Given the description of an element on the screen output the (x, y) to click on. 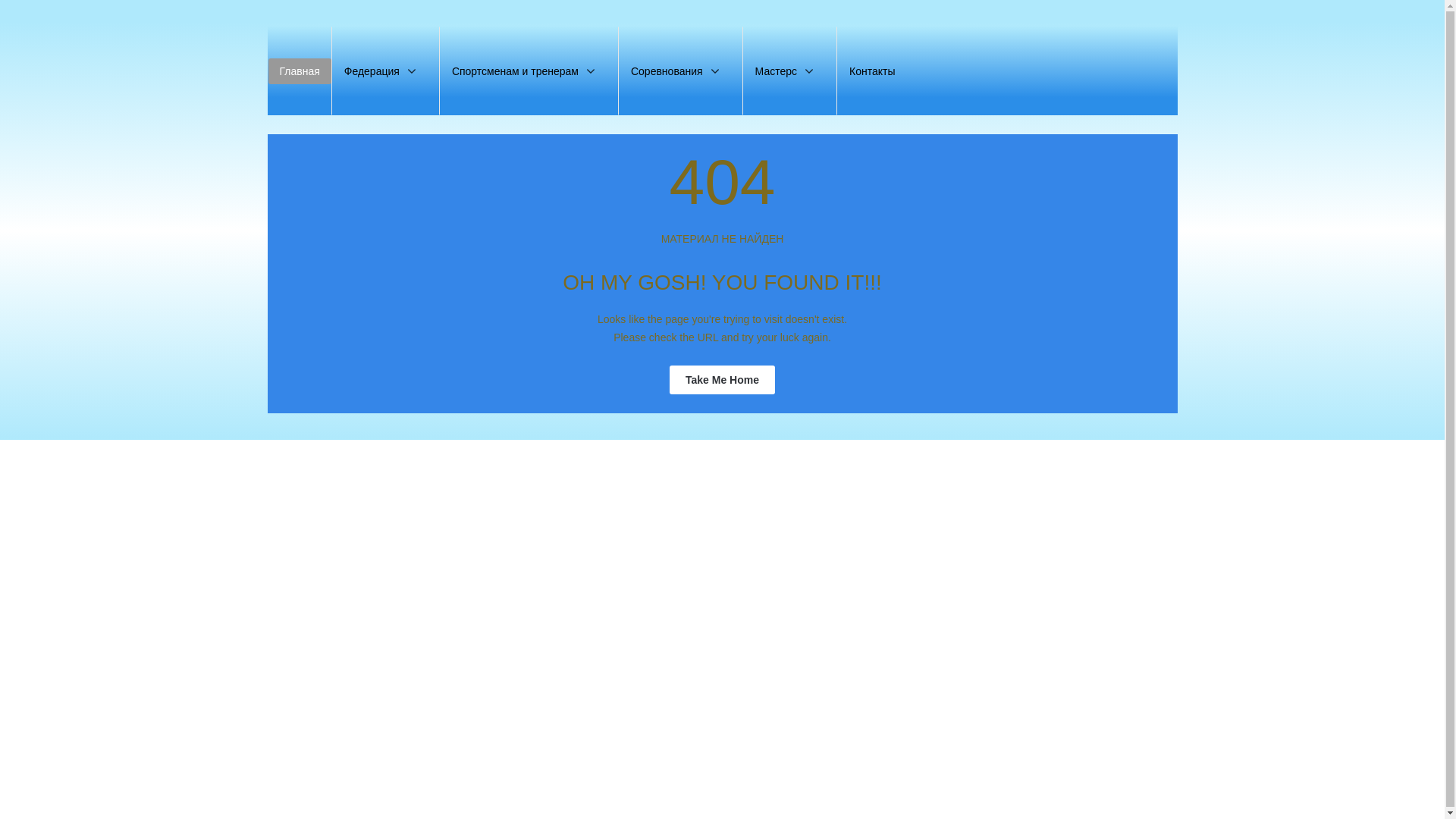
Take Me Home Element type: text (722, 379)
